Given the description of an element on the screen output the (x, y) to click on. 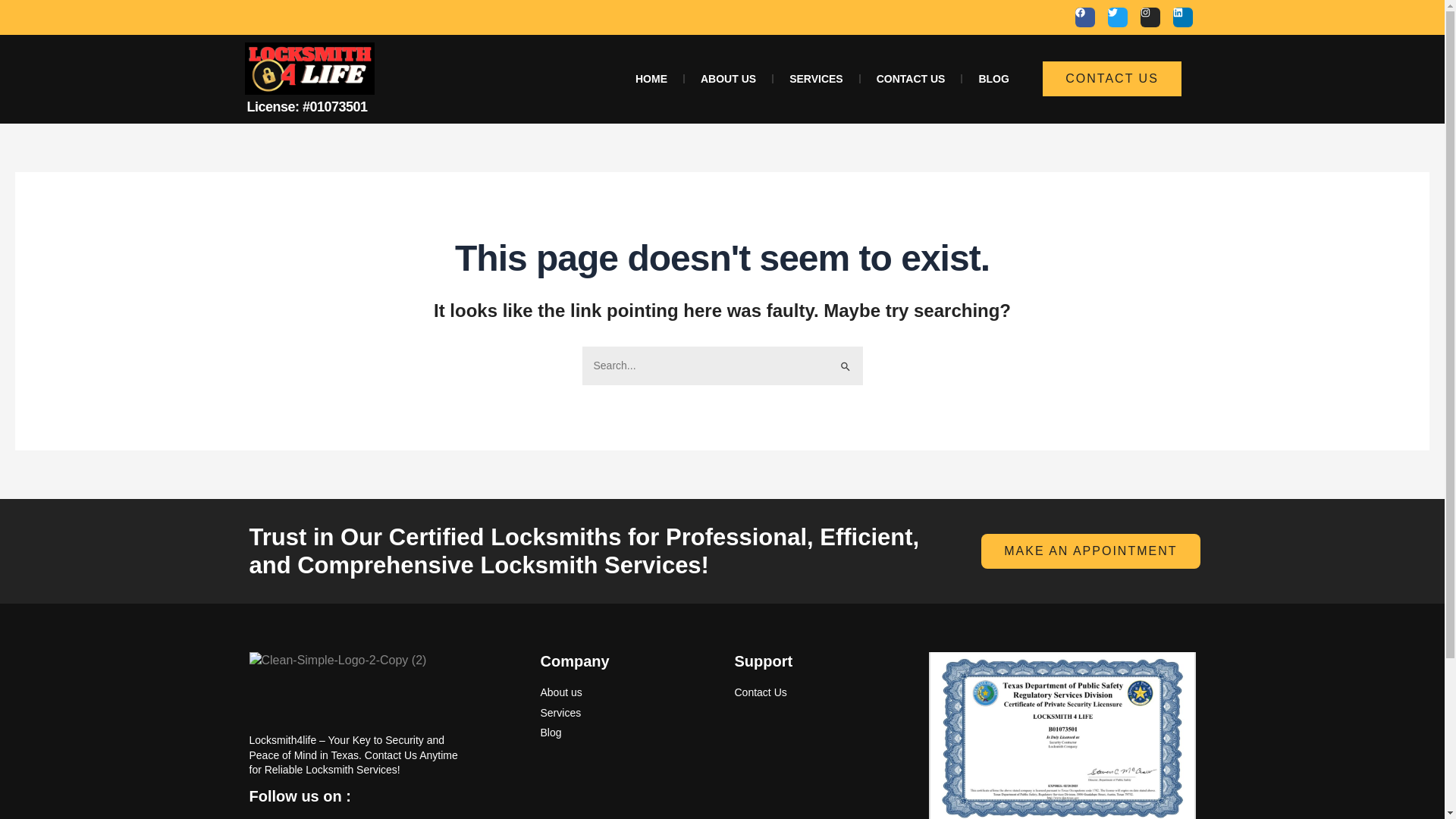
Instagram (1150, 17)
Facebook (1084, 17)
SERVICES (816, 79)
Search (844, 360)
Search (844, 360)
Linkedin (1182, 17)
Twitter (1116, 17)
CONTACT US (910, 79)
ABOUT US (727, 79)
